Given the description of an element on the screen output the (x, y) to click on. 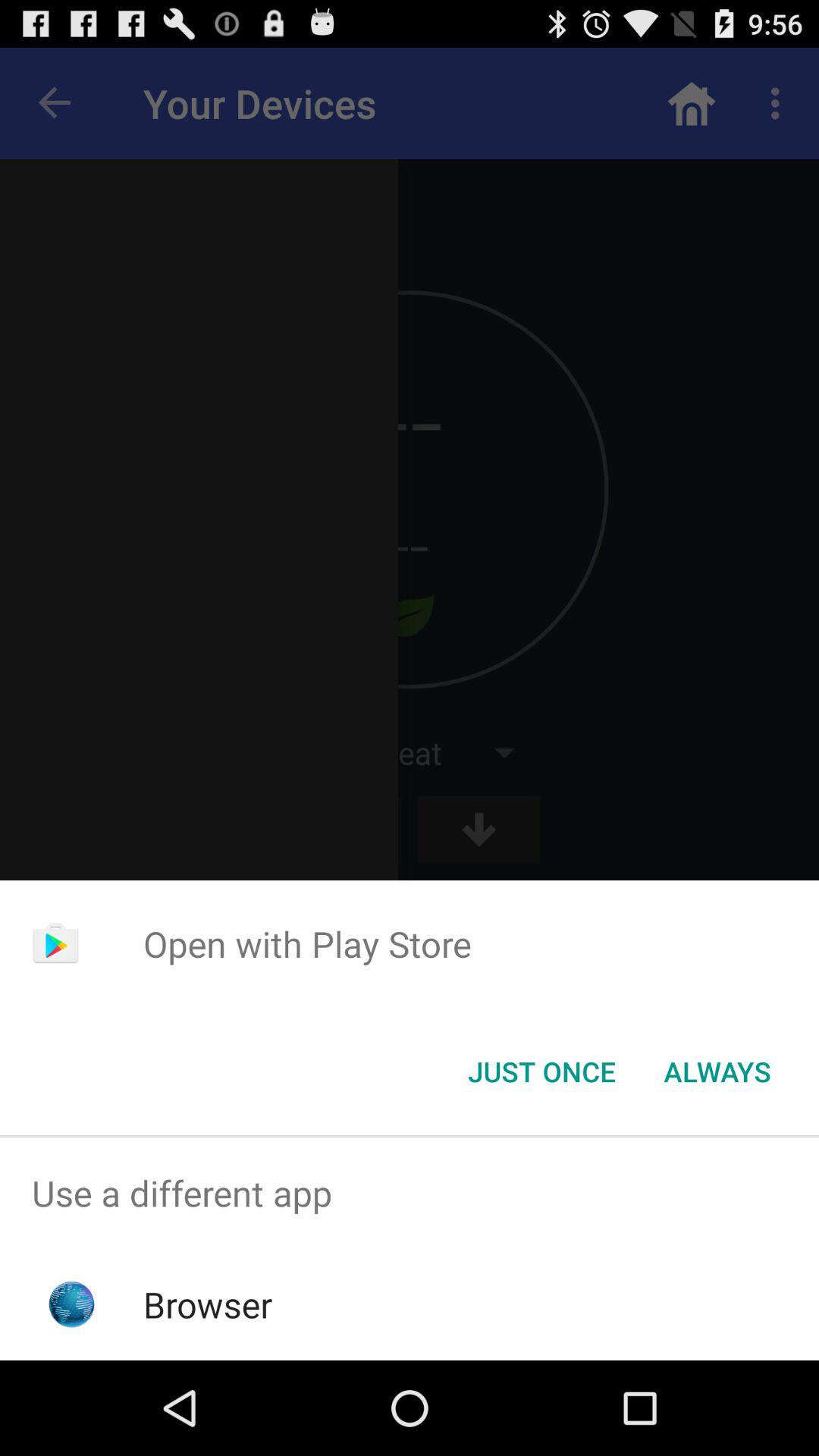
launch the just once button (541, 1071)
